Given the description of an element on the screen output the (x, y) to click on. 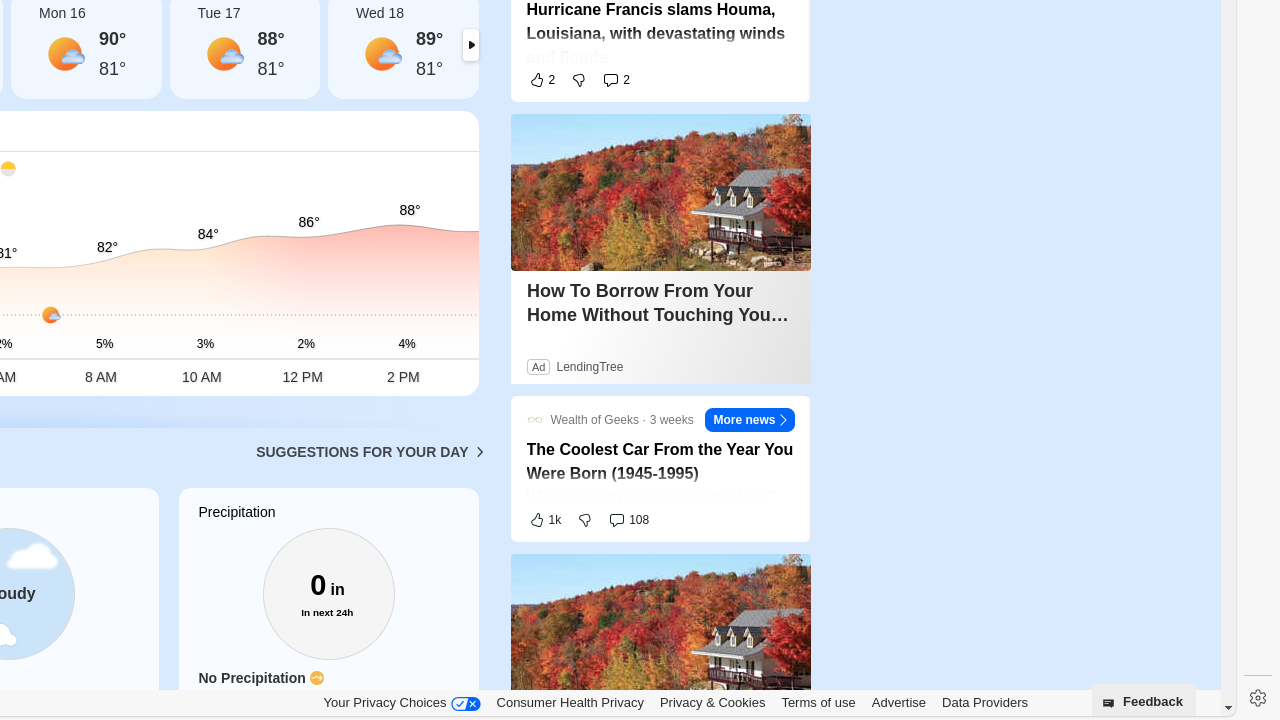
The Coolest Car From the Year You Were Born (1945-1995) - From: Wealth of Geeks Element type: link (660, 461)
Your Privacy Choices Element type: link (402, 703)
Advertise Element type: link (899, 702)
Consumer Health Privacy Element type: link (570, 702)
Suggestions for your day Element type: link (362, 451)
